Given the description of an element on the screen output the (x, y) to click on. 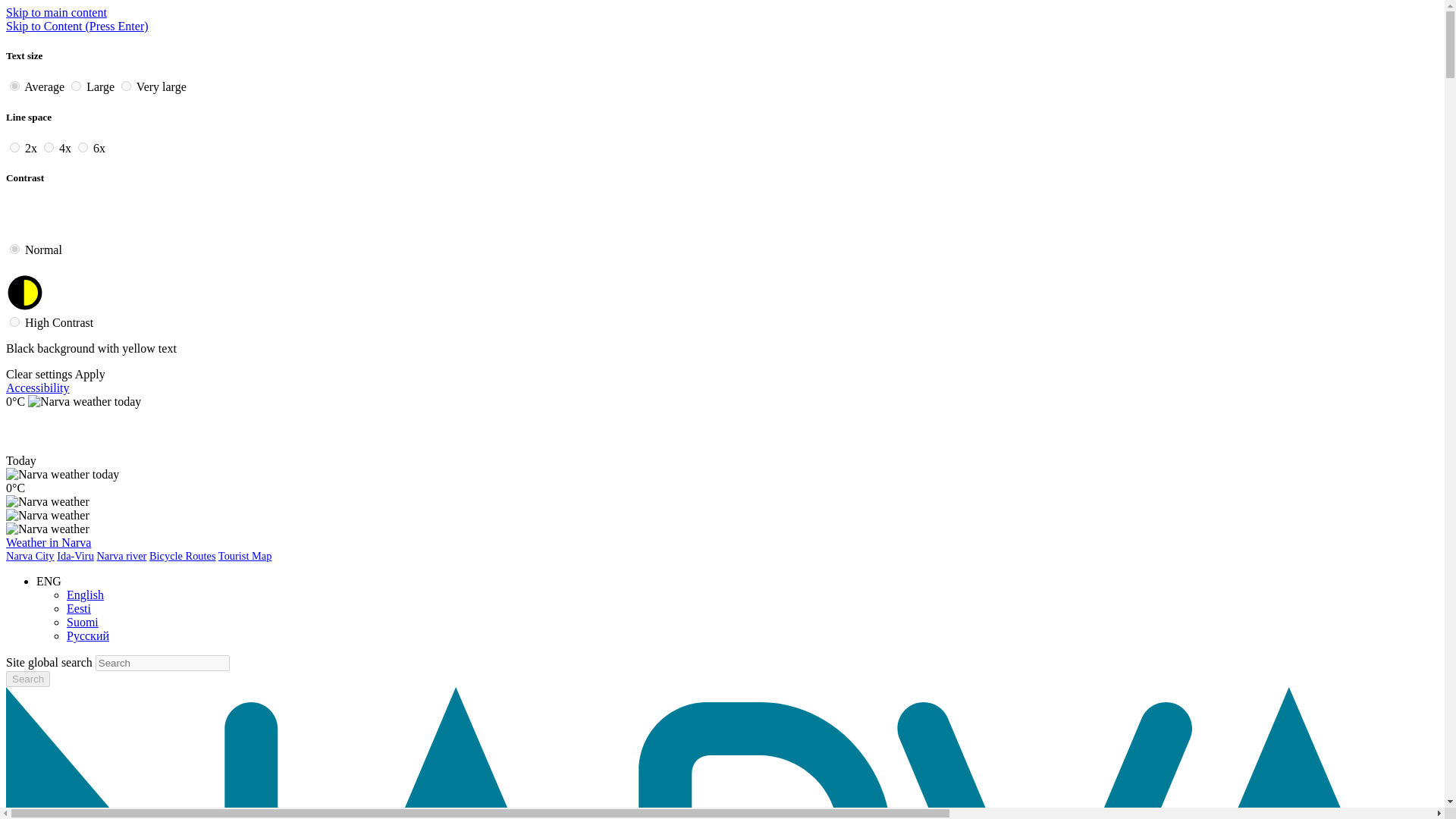
2 (125, 85)
2 (15, 147)
Search (27, 678)
Accessibility (37, 387)
1 (76, 85)
Narva river (121, 555)
4 (48, 147)
Weather in Narva (47, 542)
normal (15, 248)
6 (82, 147)
Narva City (30, 555)
Ida-Viru (75, 555)
Bicycle Routes (182, 555)
Clear settings (38, 373)
Eesti (78, 608)
